Given the description of an element on the screen output the (x, y) to click on. 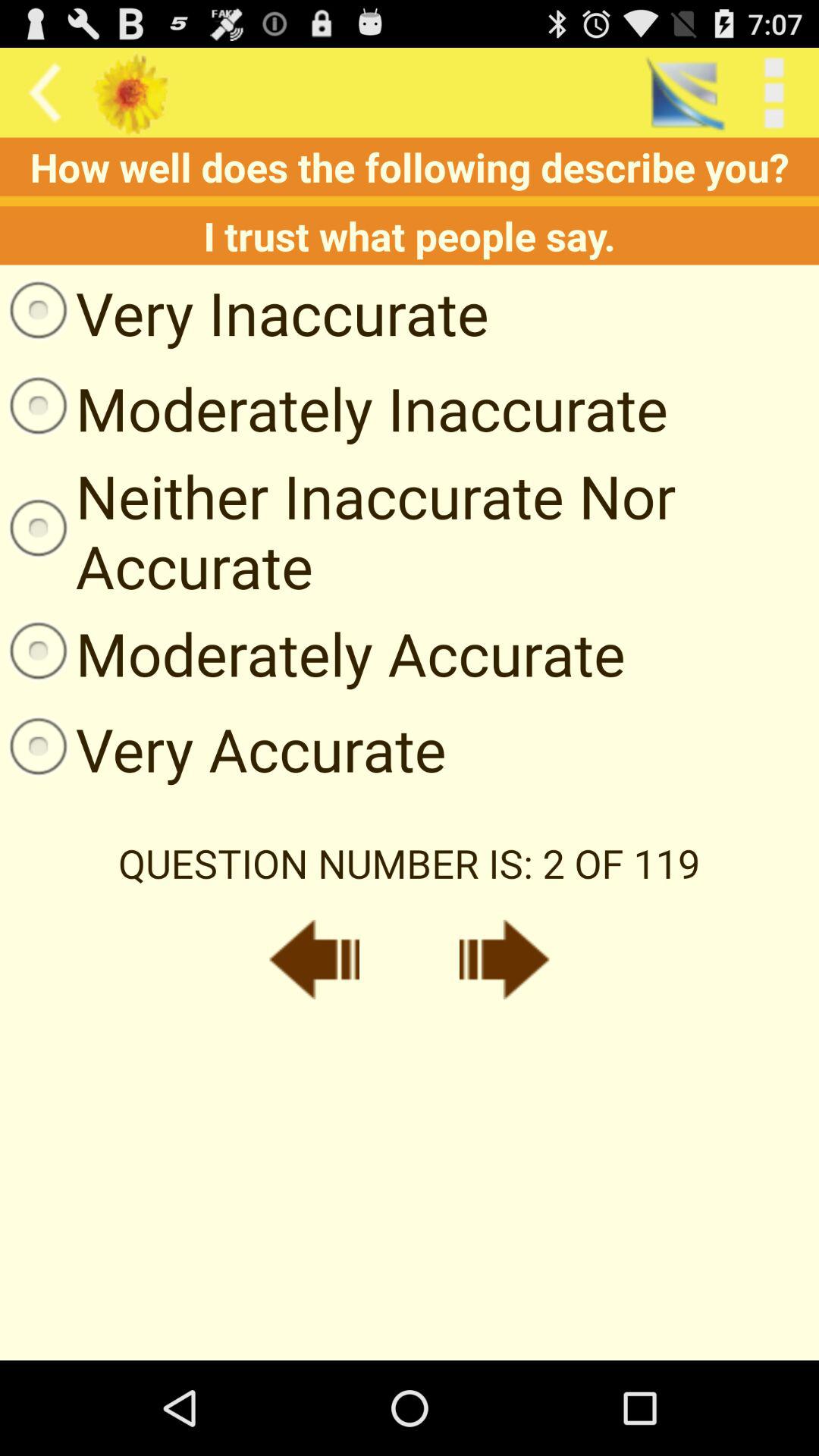
go to the next question (504, 959)
